Given the description of an element on the screen output the (x, y) to click on. 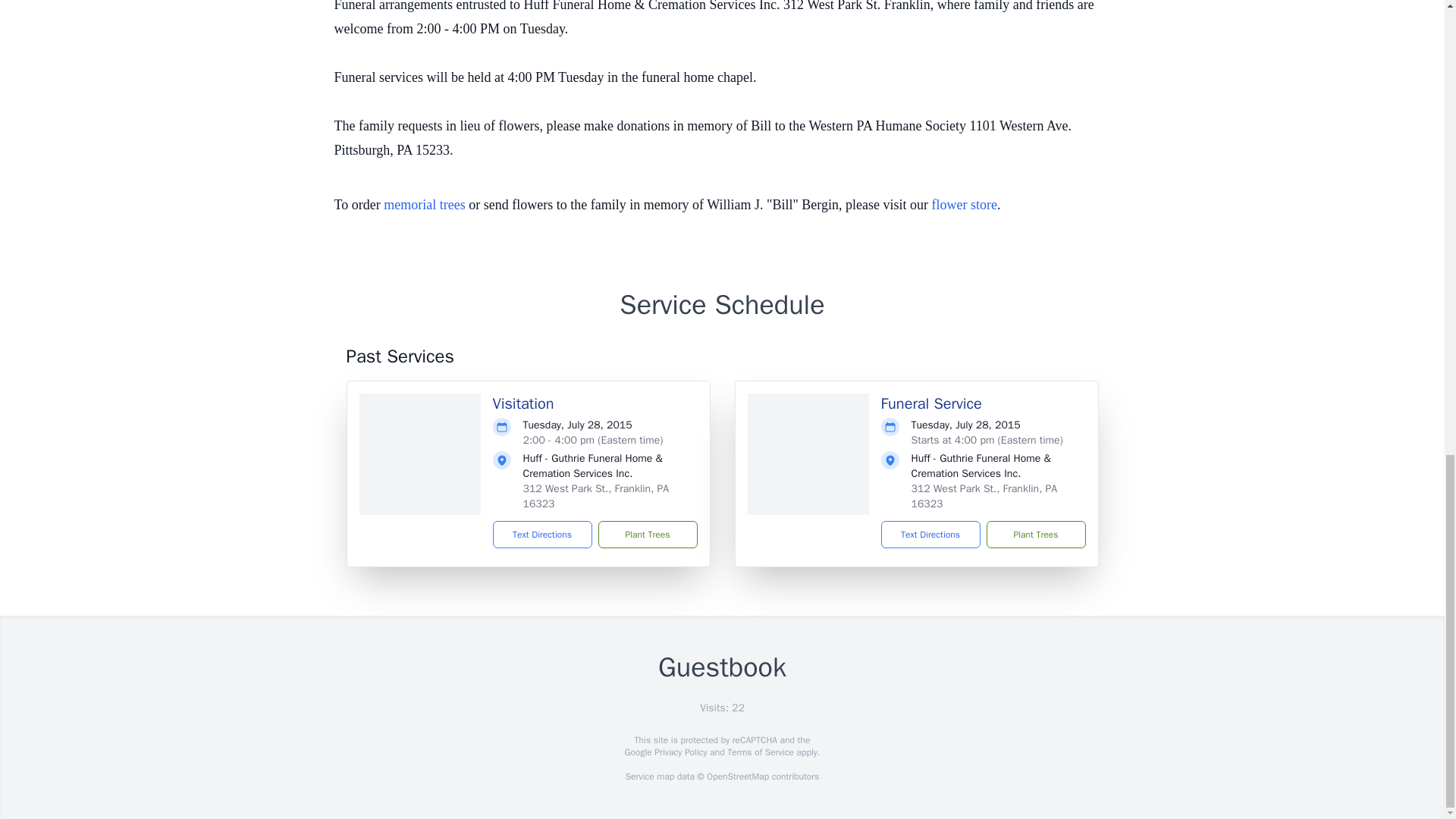
Plant Trees (646, 533)
Terms of Service (759, 752)
OpenStreetMap (737, 776)
Text Directions (929, 533)
flower store (963, 204)
312 West Park St., Franklin, PA 16323 (595, 496)
Plant Trees (1034, 533)
Text Directions (542, 533)
Privacy Policy (679, 752)
312 West Park St., Franklin, PA 16323 (984, 496)
